Given the description of an element on the screen output the (x, y) to click on. 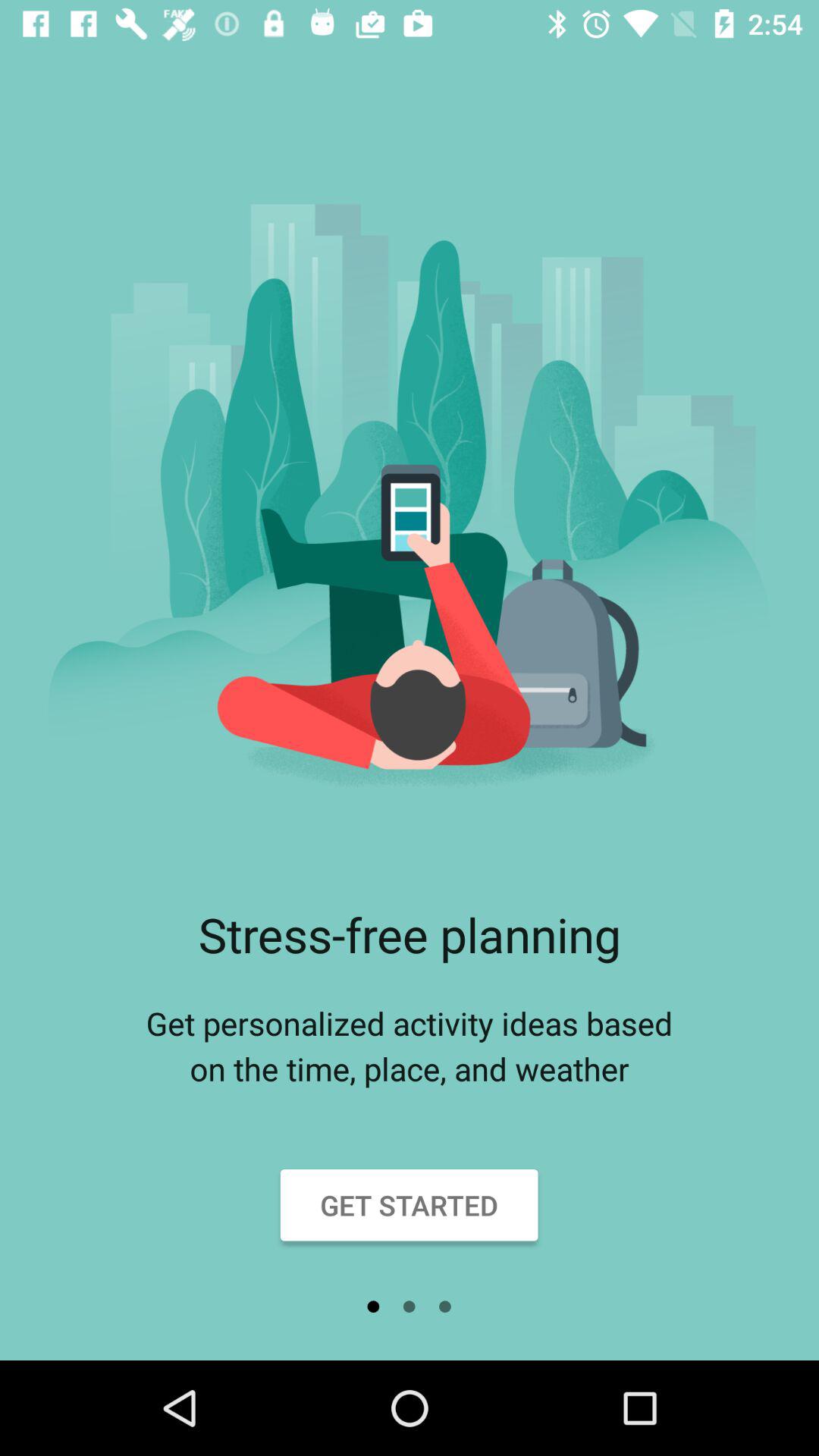
launch item below get started item (409, 1306)
